Given the description of an element on the screen output the (x, y) to click on. 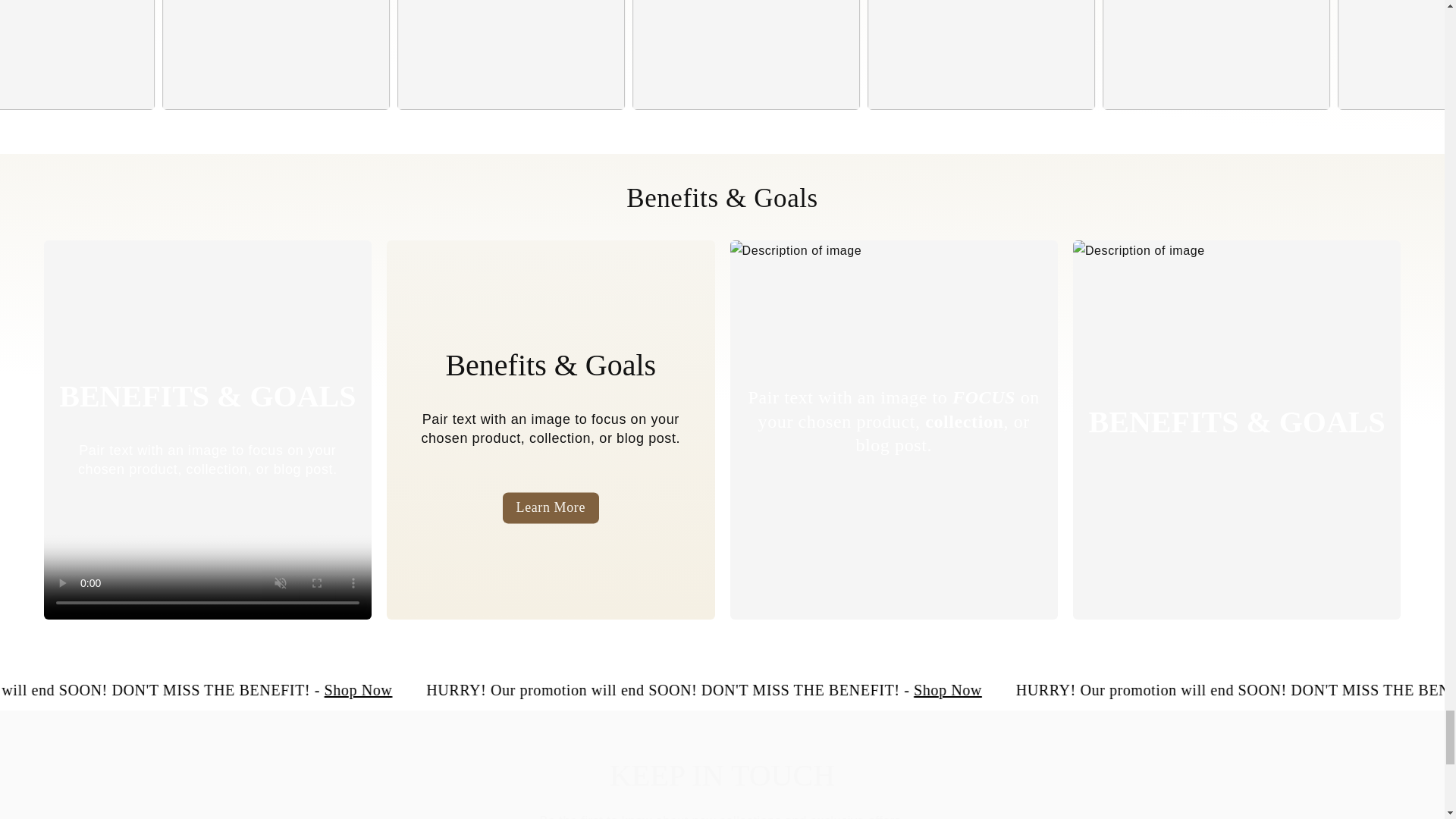
On Sale (483, 689)
KEEP IN TOUCH (721, 775)
On Sale (1073, 689)
